Given the description of an element on the screen output the (x, y) to click on. 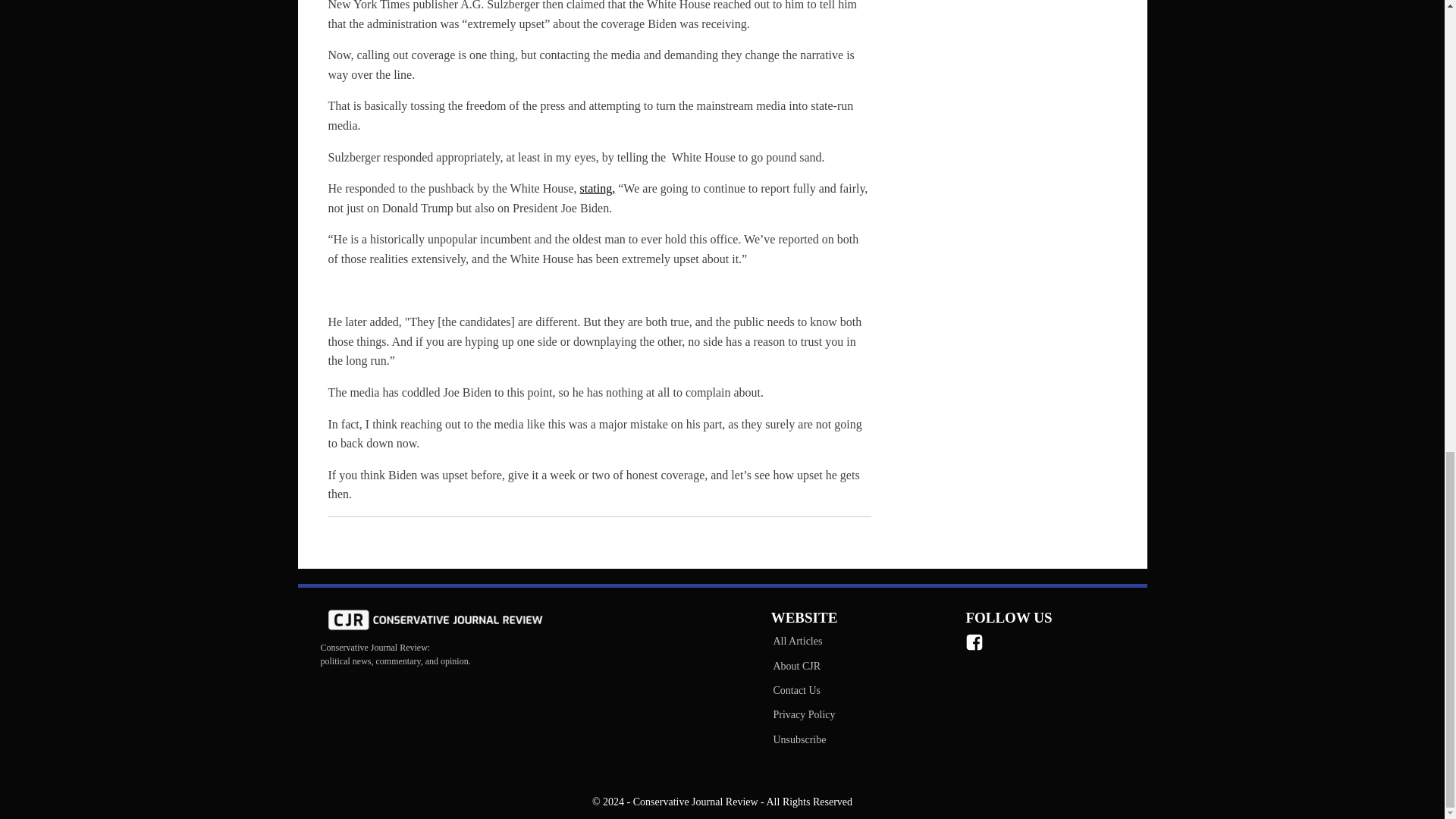
All Articles (803, 641)
About CJR (803, 666)
Unsubscribe (803, 740)
Privacy Policy (803, 714)
stating, (597, 187)
Contact Us (803, 690)
